Given the description of an element on the screen output the (x, y) to click on. 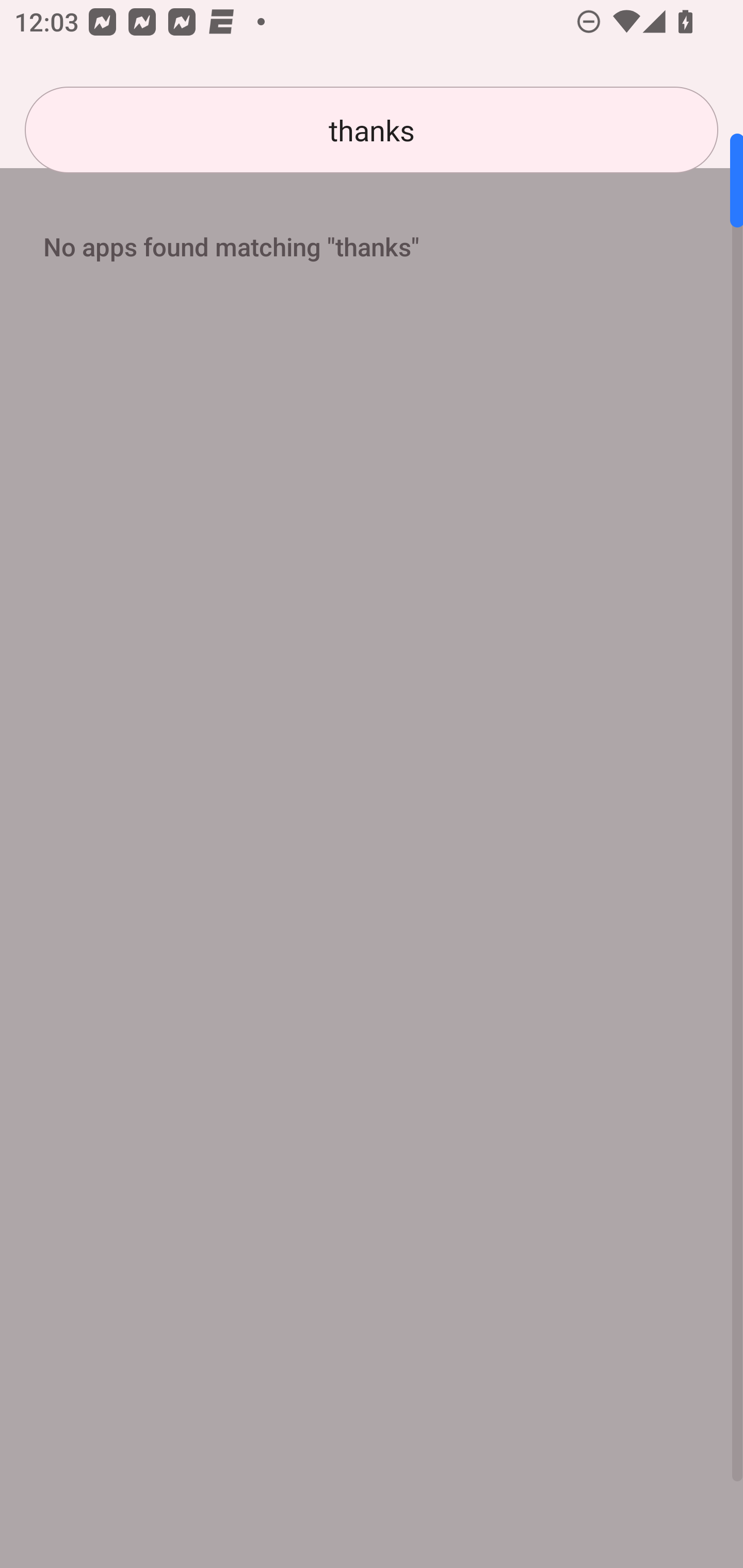
thanks (371, 130)
